Given the description of an element on the screen output the (x, y) to click on. 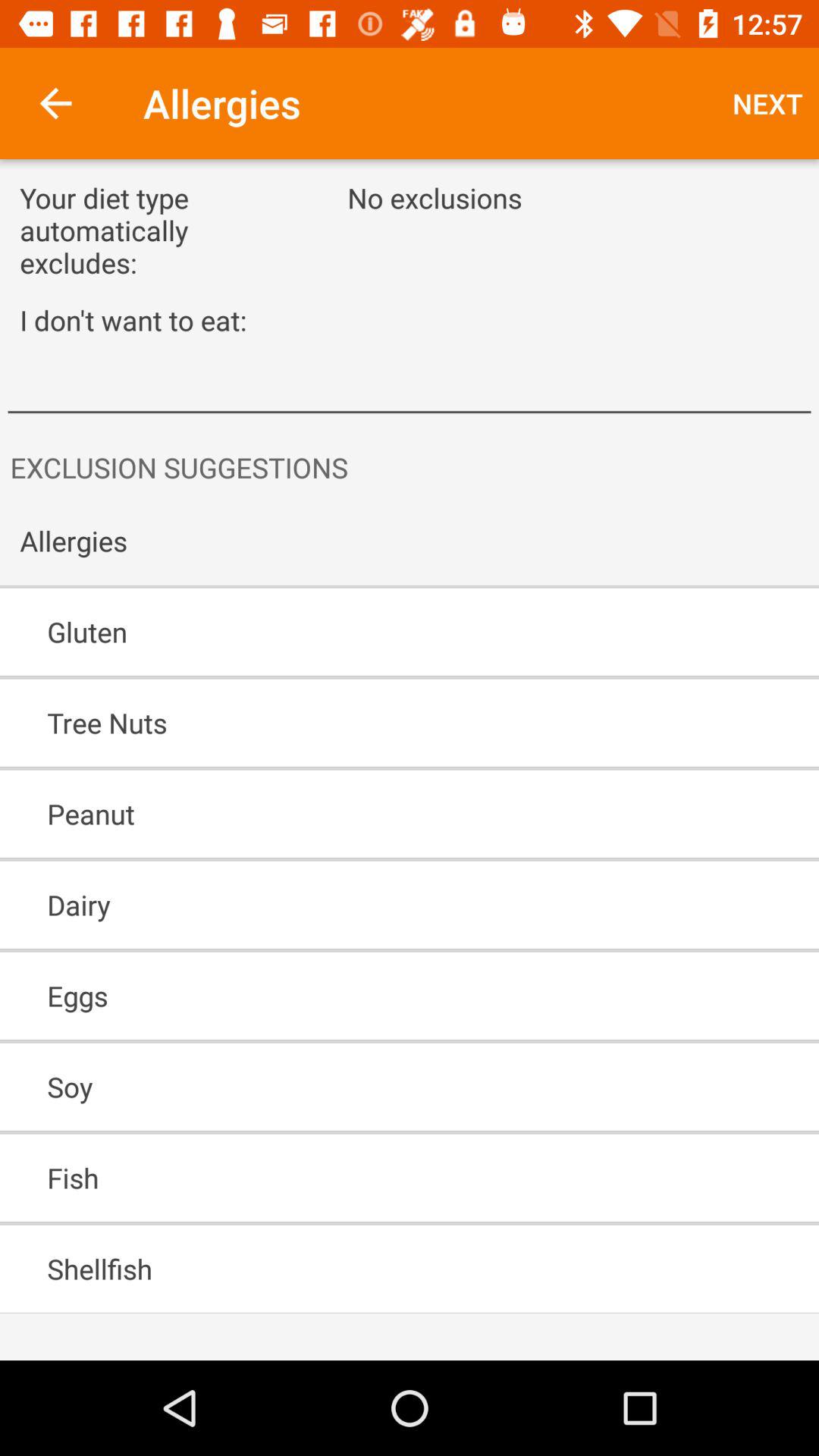
jump until the     shellfish item (365, 1268)
